Given the description of an element on the screen output the (x, y) to click on. 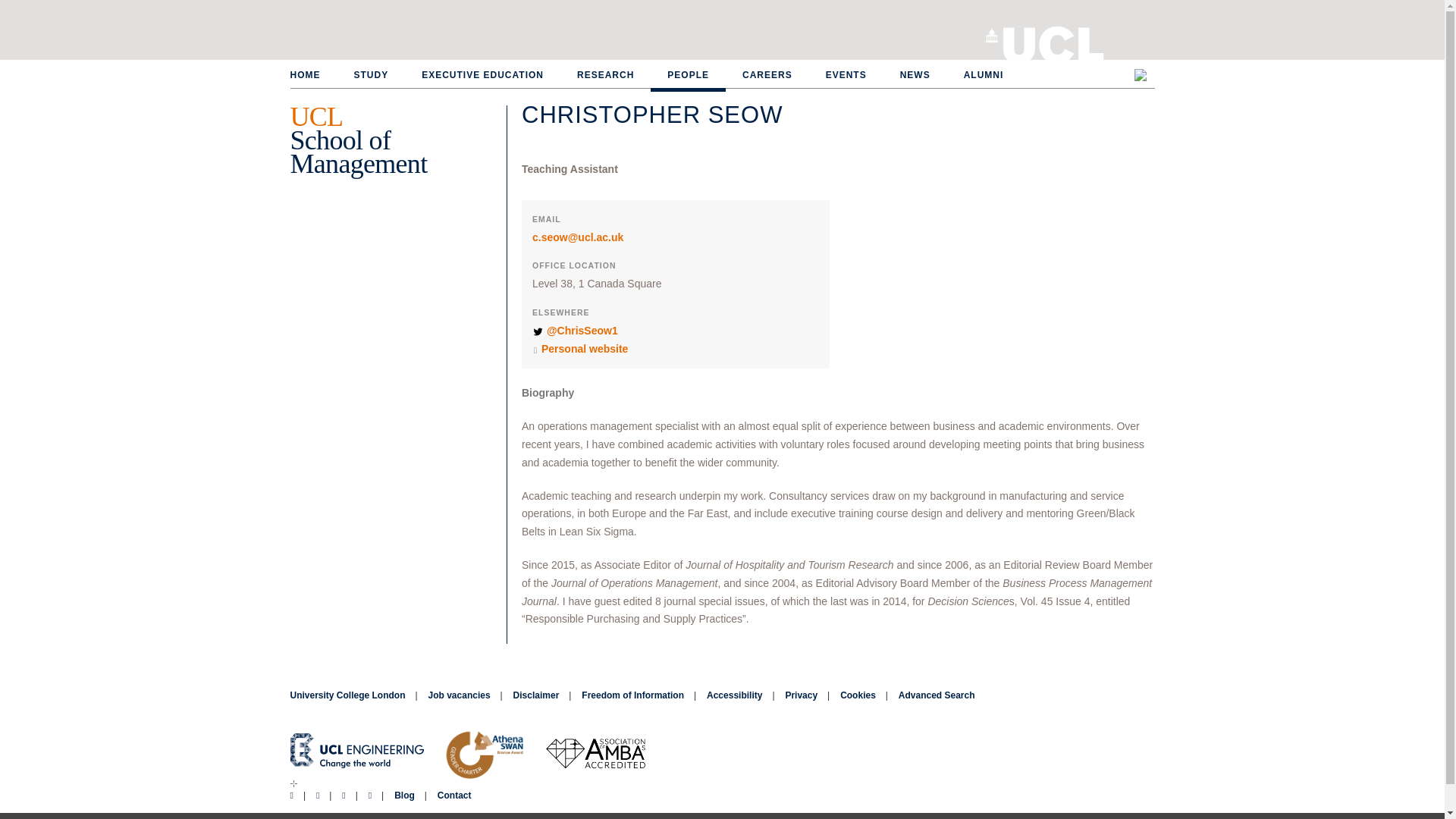
STUDY (370, 76)
Contact (454, 795)
Blog (404, 795)
PEOPLE (687, 74)
Disclaimer (536, 695)
Job vacancies (459, 695)
Personal website (584, 349)
Privacy (800, 695)
CAREERS (767, 76)
University College London (1053, 41)
University College London (346, 695)
EXECUTIVE EDUCATION (482, 76)
HOME (312, 76)
RESEARCH (605, 76)
